Given the description of an element on the screen output the (x, y) to click on. 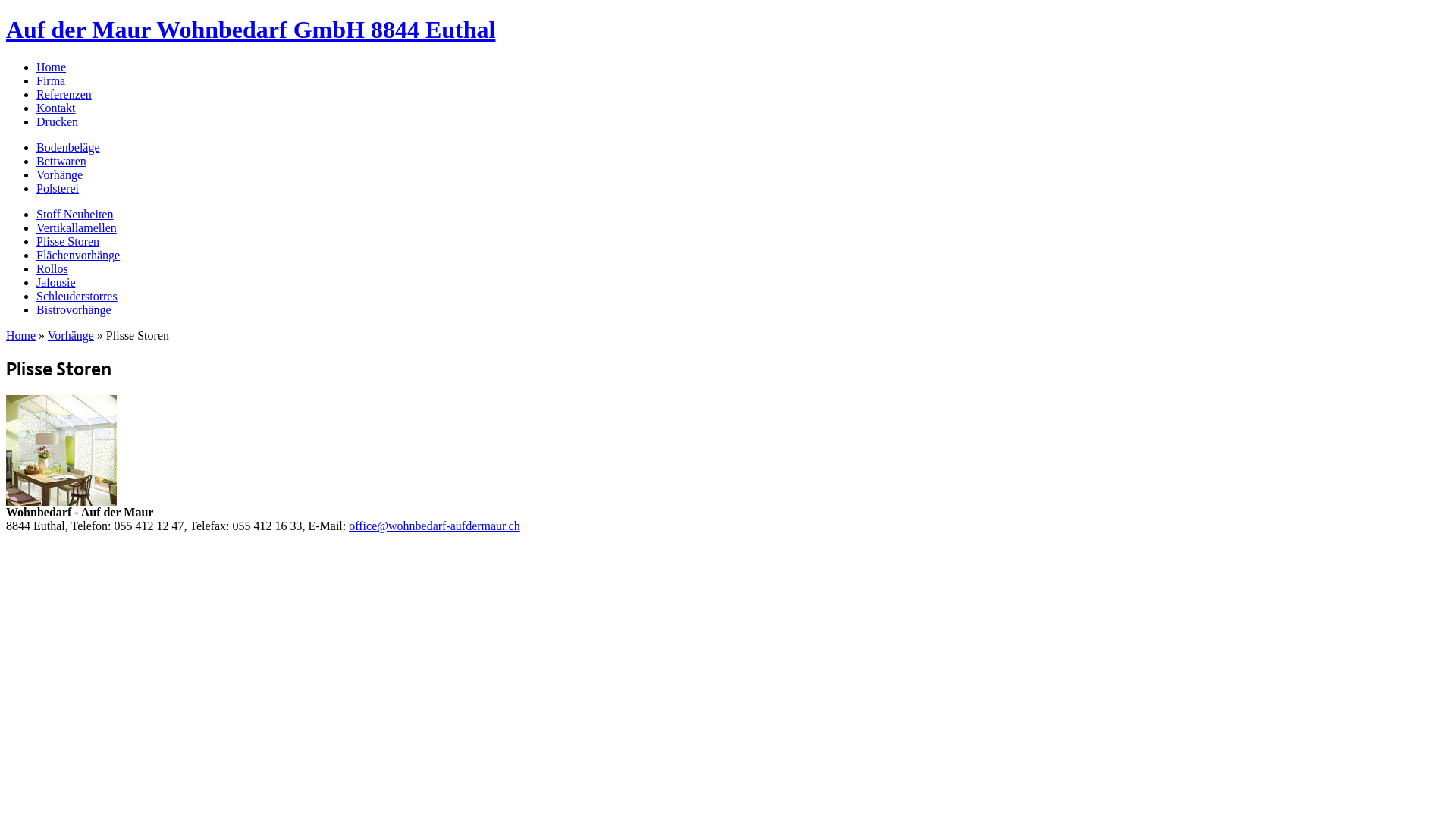
Firma Element type: text (50, 80)
Referenzen Element type: text (63, 93)
Drucken Element type: text (57, 121)
Vertikallamellen Element type: text (76, 227)
Home Element type: text (20, 335)
Polsterei Element type: text (57, 188)
Plisse Storen Element type: text (67, 241)
Auf der Maur Wohnbedarf GmbH 8844 Euthal Element type: text (250, 29)
Home Element type: text (50, 66)
Rollos Element type: text (52, 268)
Schleuderstorres Element type: text (76, 295)
Kontakt Element type: text (55, 107)
office@wohnbedarf-aufdermaur.ch Element type: text (433, 525)
Jalousie Element type: text (55, 282)
Stoff Neuheiten Element type: text (74, 213)
Bettwaren Element type: text (61, 160)
